Given the description of an element on the screen output the (x, y) to click on. 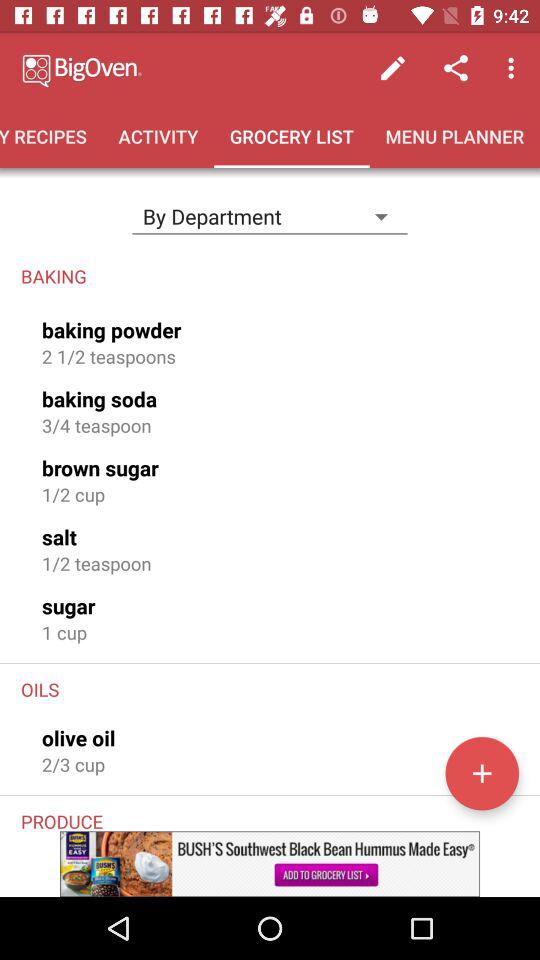
screensort (482, 773)
